Given the description of an element on the screen output the (x, y) to click on. 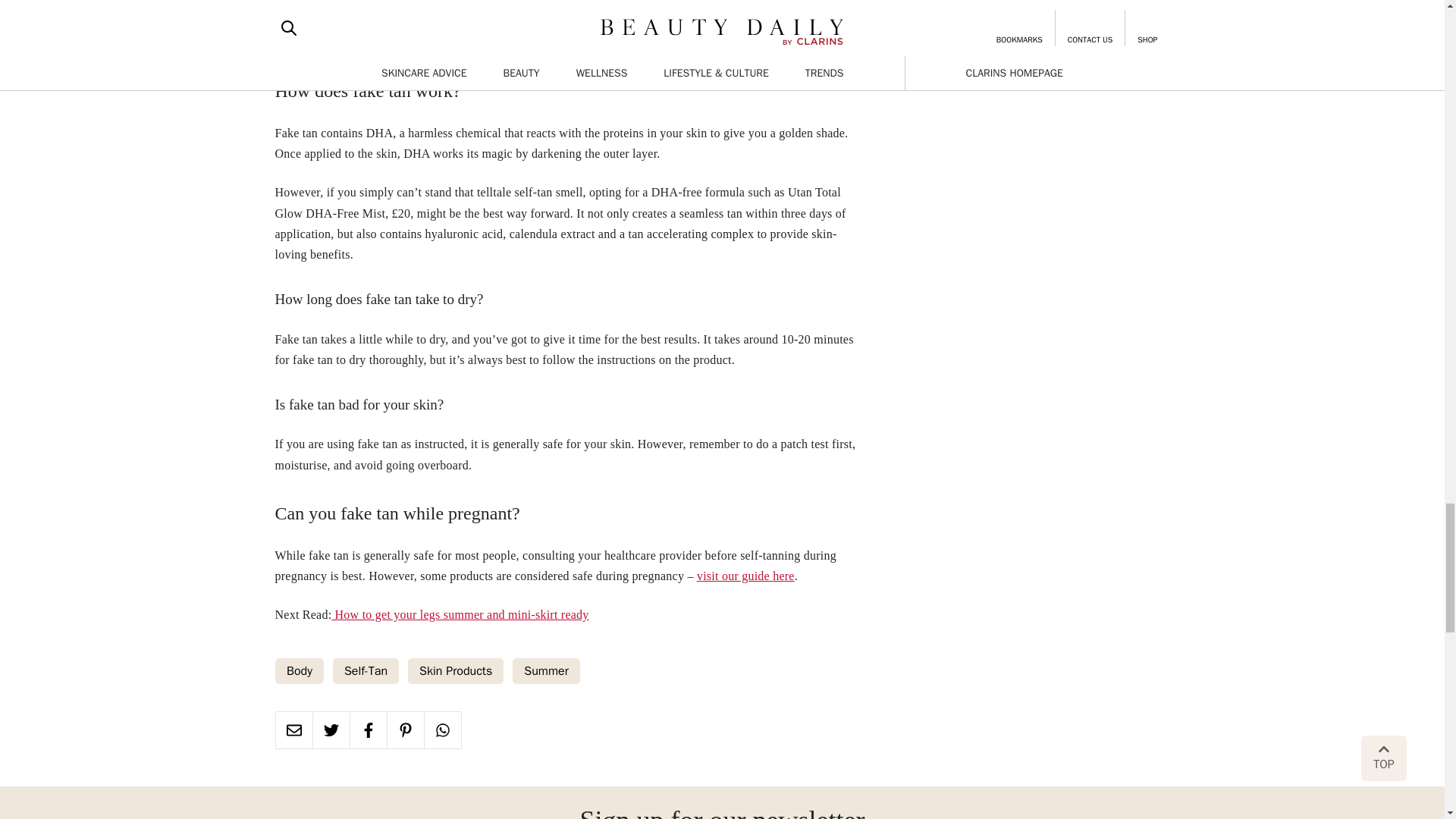
Summer (545, 670)
Skin Products (455, 670)
Body (299, 670)
Self-Tan (364, 670)
